Given the description of an element on the screen output the (x, y) to click on. 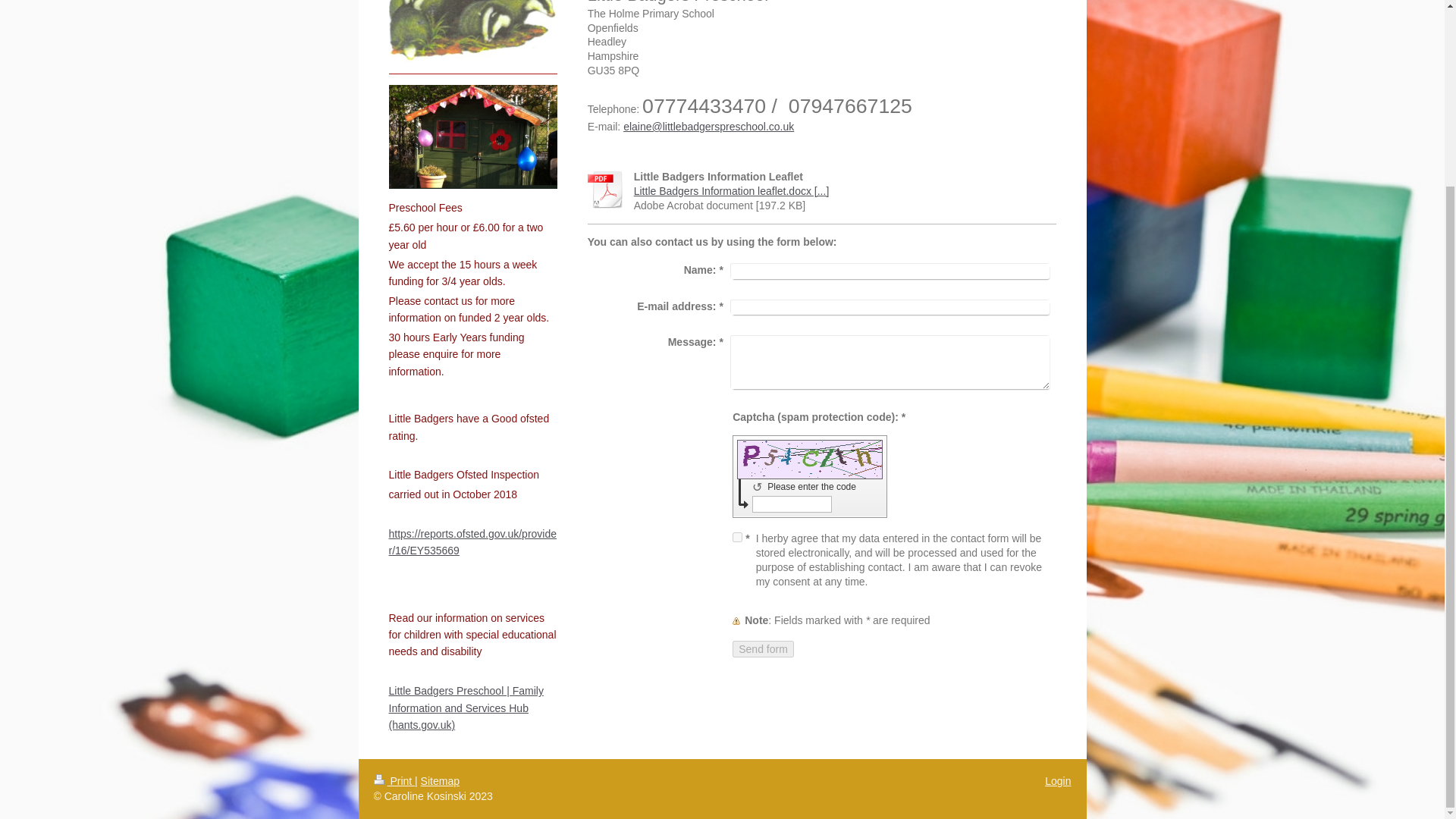
on (737, 537)
Generate new code (759, 486)
Send form (762, 648)
Login (1057, 780)
Print (393, 780)
Sitemap (440, 780)
Send form (762, 648)
